Given the description of an element on the screen output the (x, y) to click on. 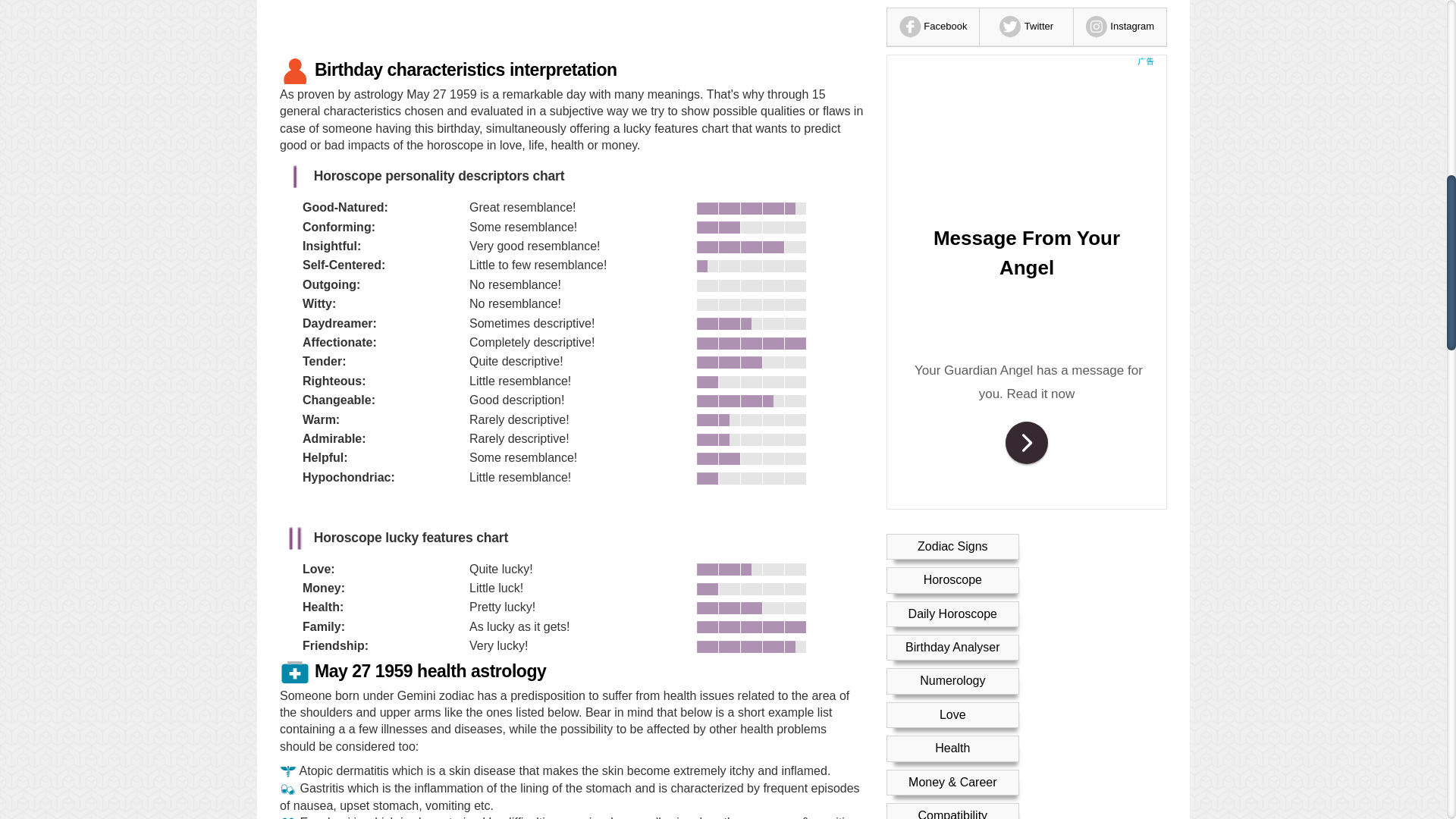
4 Elements (952, 141)
Advertisement (571, 25)
Astrology (952, 73)
Compatibility (952, 40)
Birthdays (952, 107)
